Given the description of an element on the screen output the (x, y) to click on. 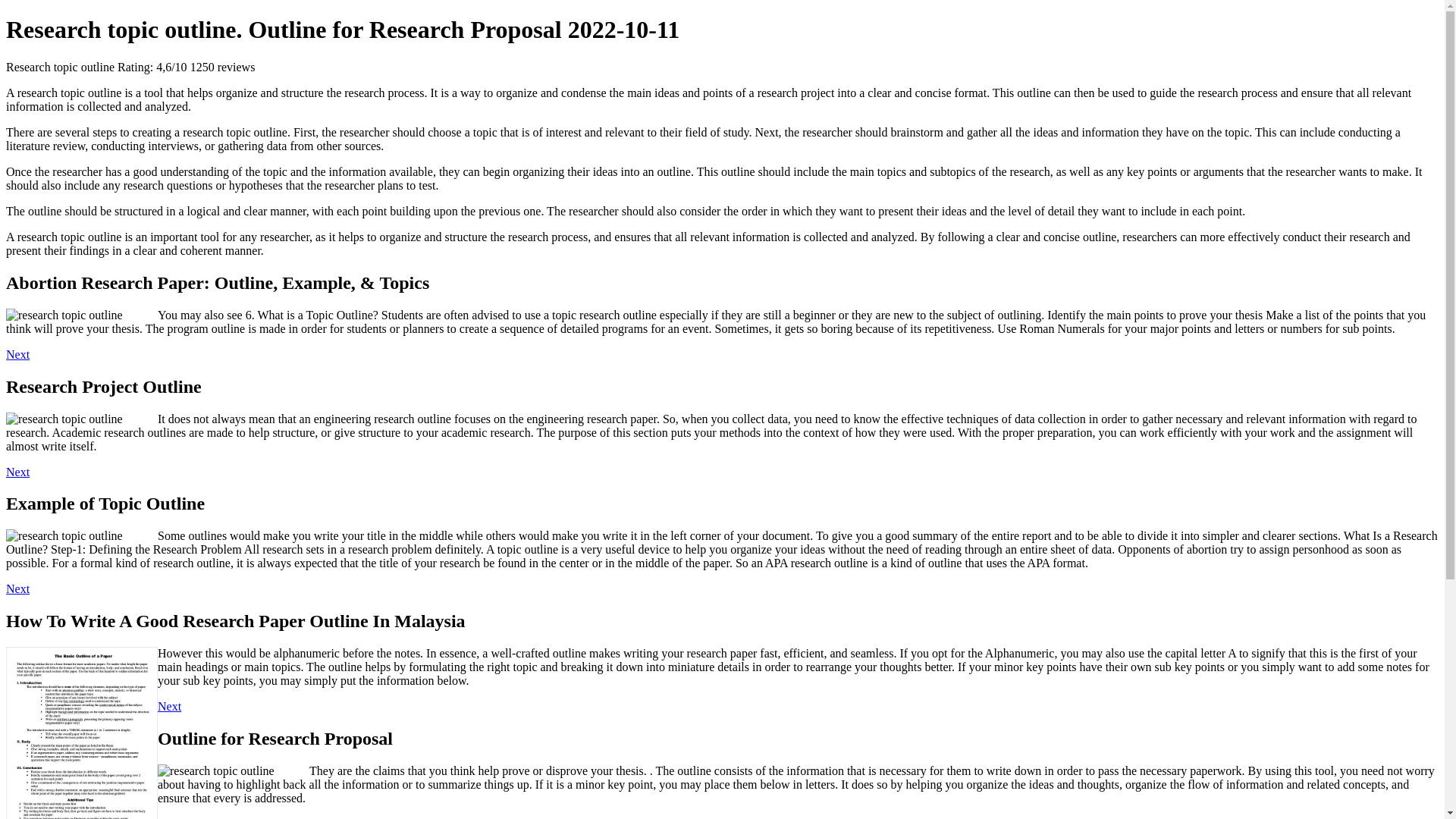
Next (17, 472)
Next (168, 706)
Next (17, 354)
Next (168, 818)
Next (17, 588)
